Given the description of an element on the screen output the (x, y) to click on. 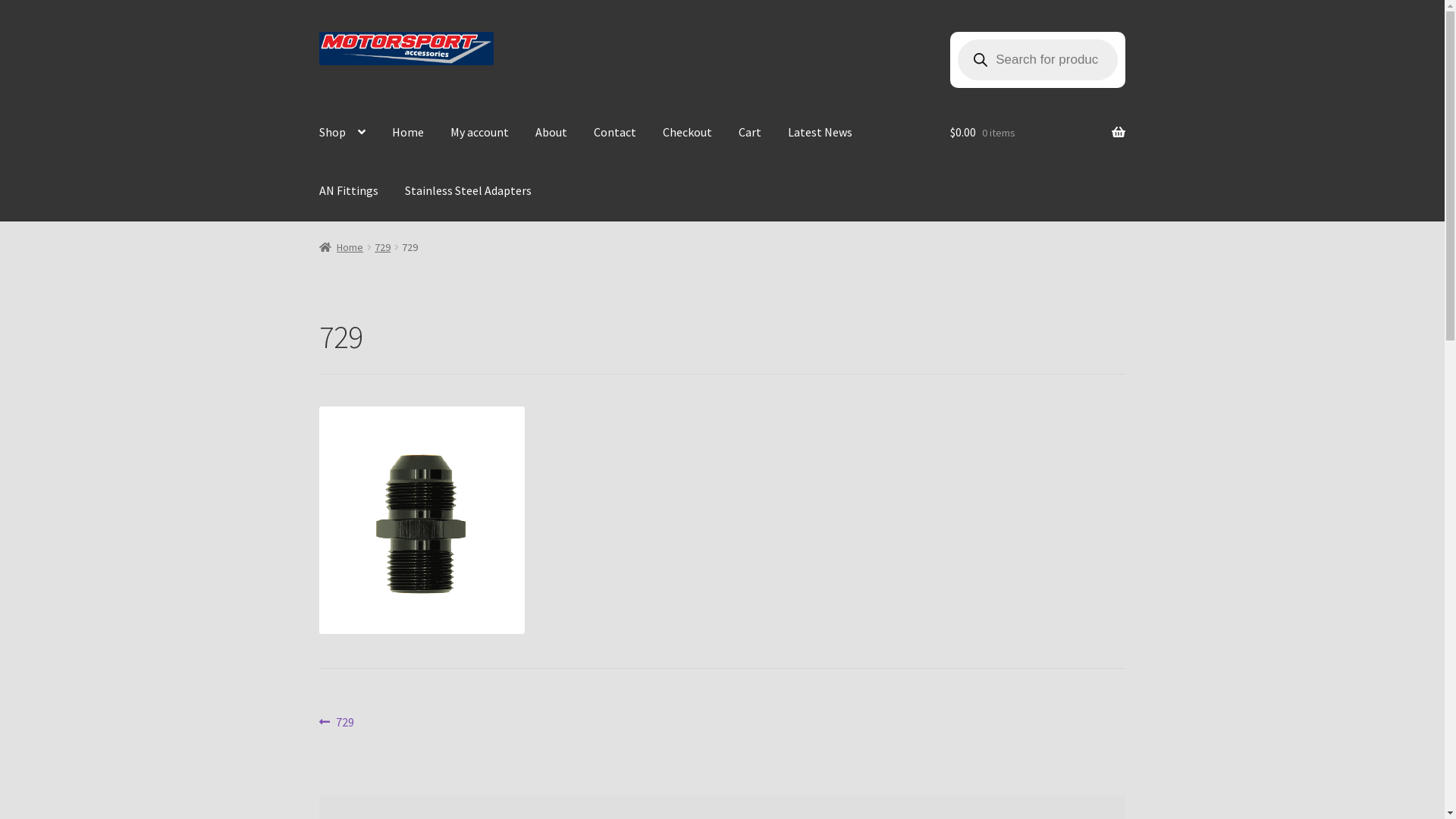
Contact Element type: text (614, 132)
Cart Element type: text (749, 132)
About Element type: text (551, 132)
Home Element type: text (407, 132)
Checkout Element type: text (687, 132)
Previous post:
729 Element type: text (336, 722)
AN Fittings Element type: text (348, 190)
$0.00 0 items Element type: text (1037, 132)
Shop Element type: text (342, 132)
Home Element type: text (341, 247)
729 Element type: text (382, 247)
Latest News Element type: text (819, 132)
Stainless Steel Adapters Element type: text (467, 190)
My account Element type: text (479, 132)
Skip to navigation Element type: text (318, 31)
